Given the description of an element on the screen output the (x, y) to click on. 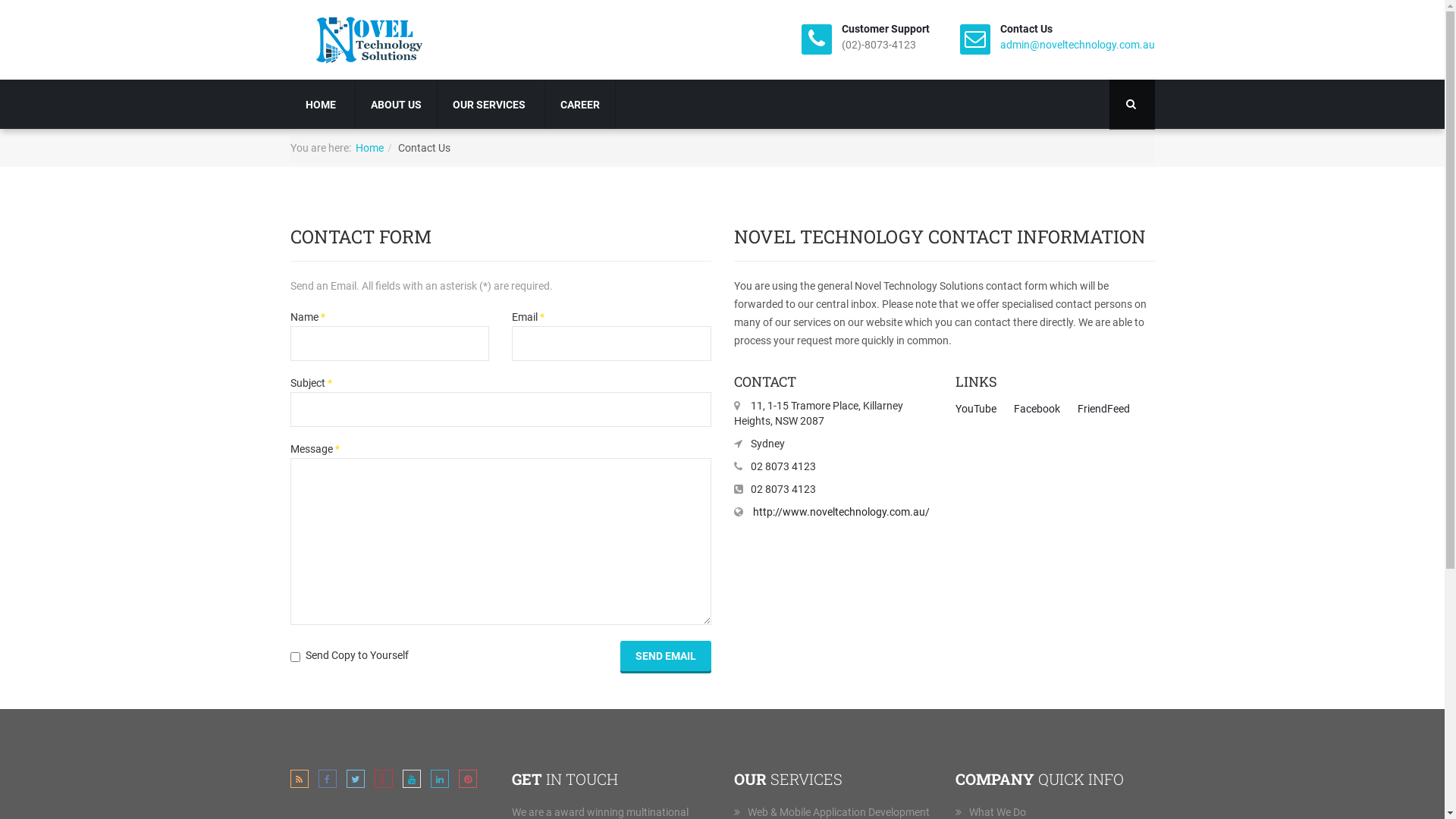
OUR SERVICES Element type: text (489, 103)
Web & Mobile Application Development Element type: text (838, 812)
Home Element type: text (368, 147)
CAREER Element type: text (579, 103)
Google plus Element type: hover (383, 781)
HOME Element type: text (321, 103)
Linkedin Element type: hover (439, 781)
Novel Technology Element type: hover (372, 39)
Twitter Element type: hover (354, 781)
What We Do Element type: text (997, 812)
http://www.noveltechnology.com.au/ Element type: text (839, 511)
FriendFeed Element type: text (1103, 408)
Facebook Element type: text (1036, 408)
ABOUT US Element type: text (395, 103)
RSS Element type: hover (298, 781)
SEND EMAIL Element type: text (665, 655)
YouTube Element type: text (975, 408)
admin@noveltechnology.com.au Element type: text (1076, 44)
Pinterest Element type: hover (467, 781)
YouTube Element type: hover (410, 781)
Facebook Element type: hover (327, 781)
